Given the description of an element on the screen output the (x, y) to click on. 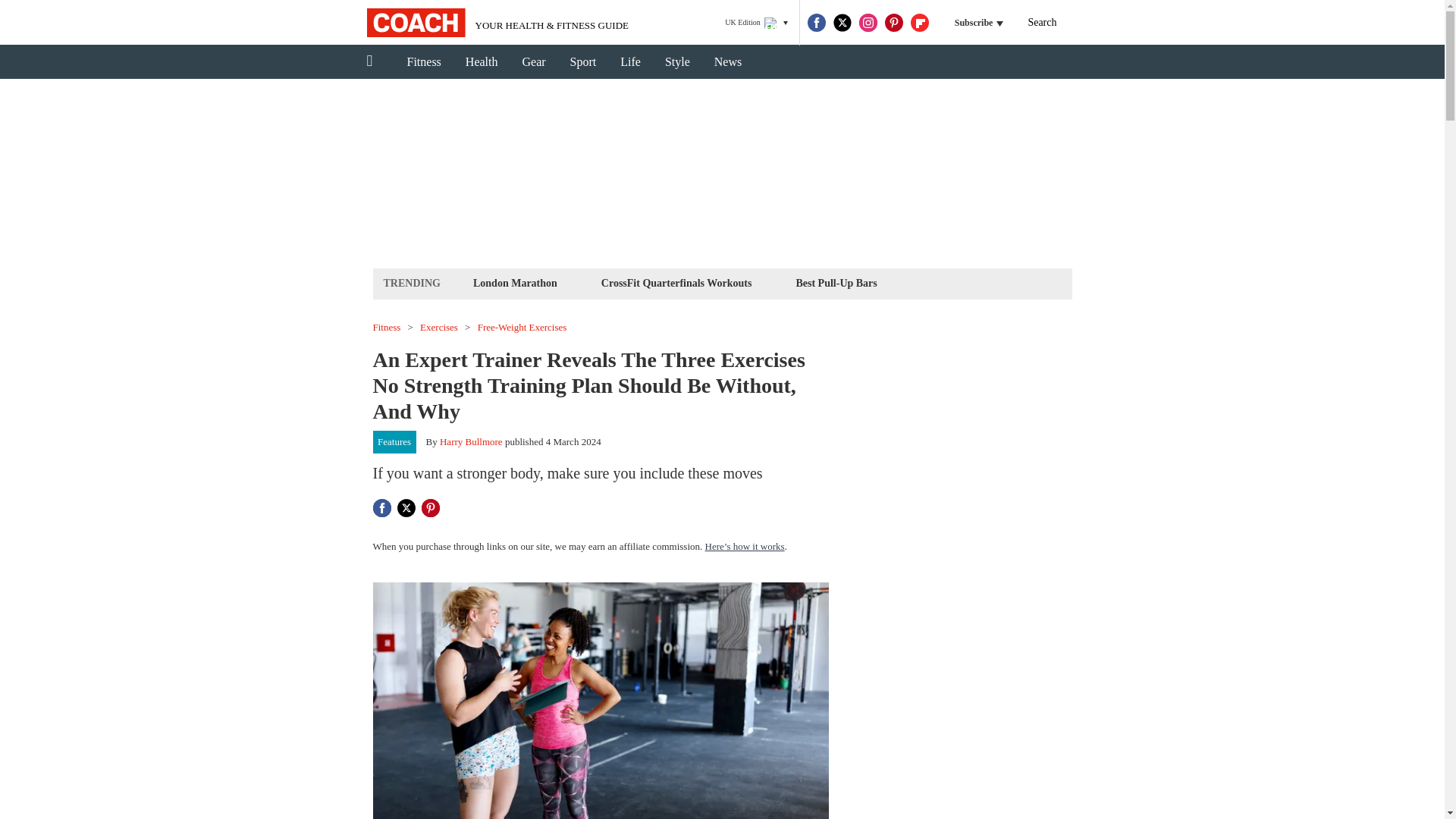
Harry Bullmore (470, 441)
News (727, 61)
Gear (533, 61)
Best Pull-Up Bars (836, 282)
Exercises (439, 327)
Fitness (386, 327)
Features (394, 441)
Style (676, 61)
Health (481, 61)
Sport (582, 61)
Fitness (423, 61)
UK Edition (755, 22)
CrossFit Quarterfinals Workouts (676, 282)
London Marathon (514, 282)
Free-Weight Exercises (522, 327)
